Given the description of an element on the screen output the (x, y) to click on. 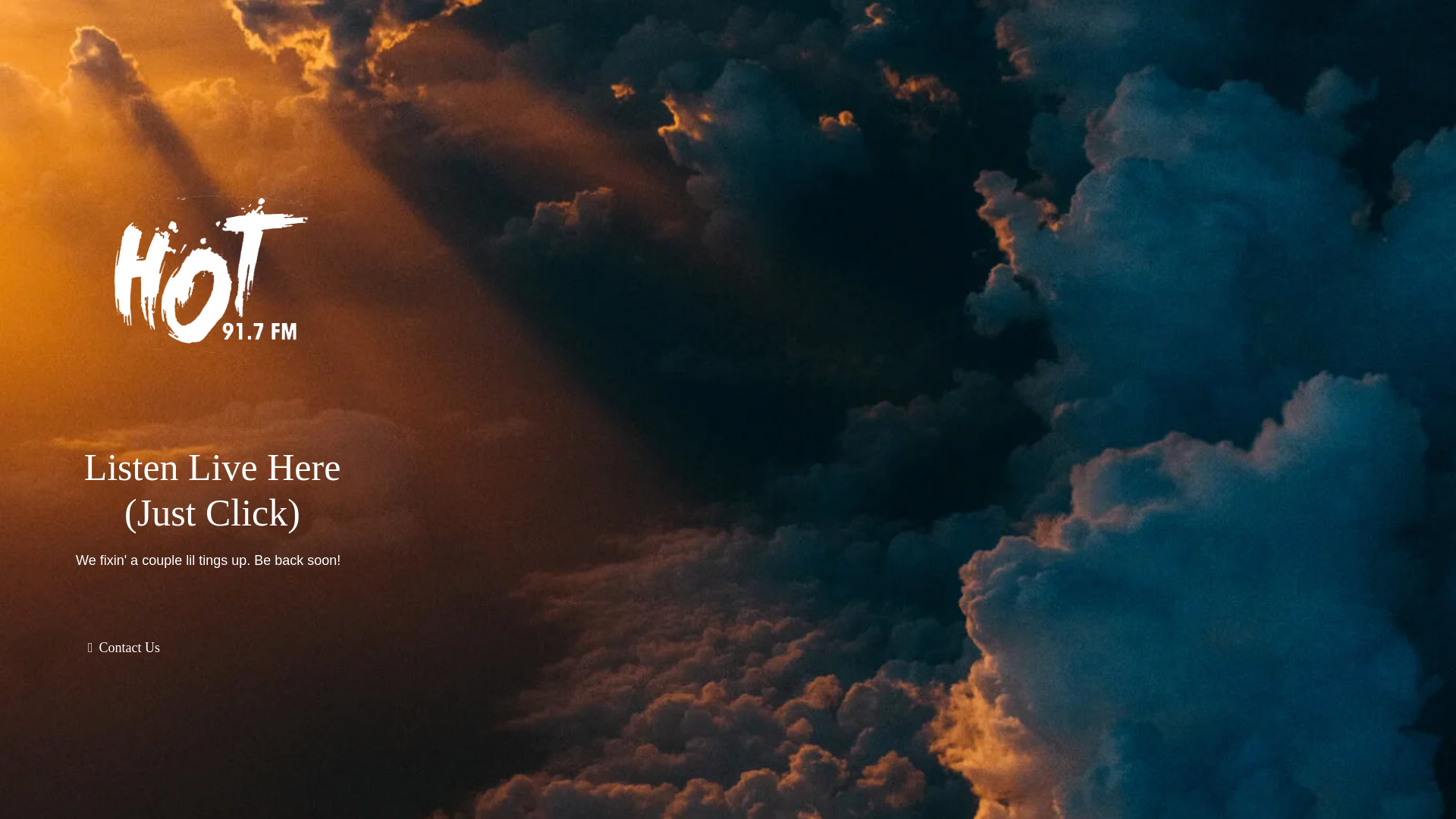
Contact Us (123, 647)
